Given the description of an element on the screen output the (x, y) to click on. 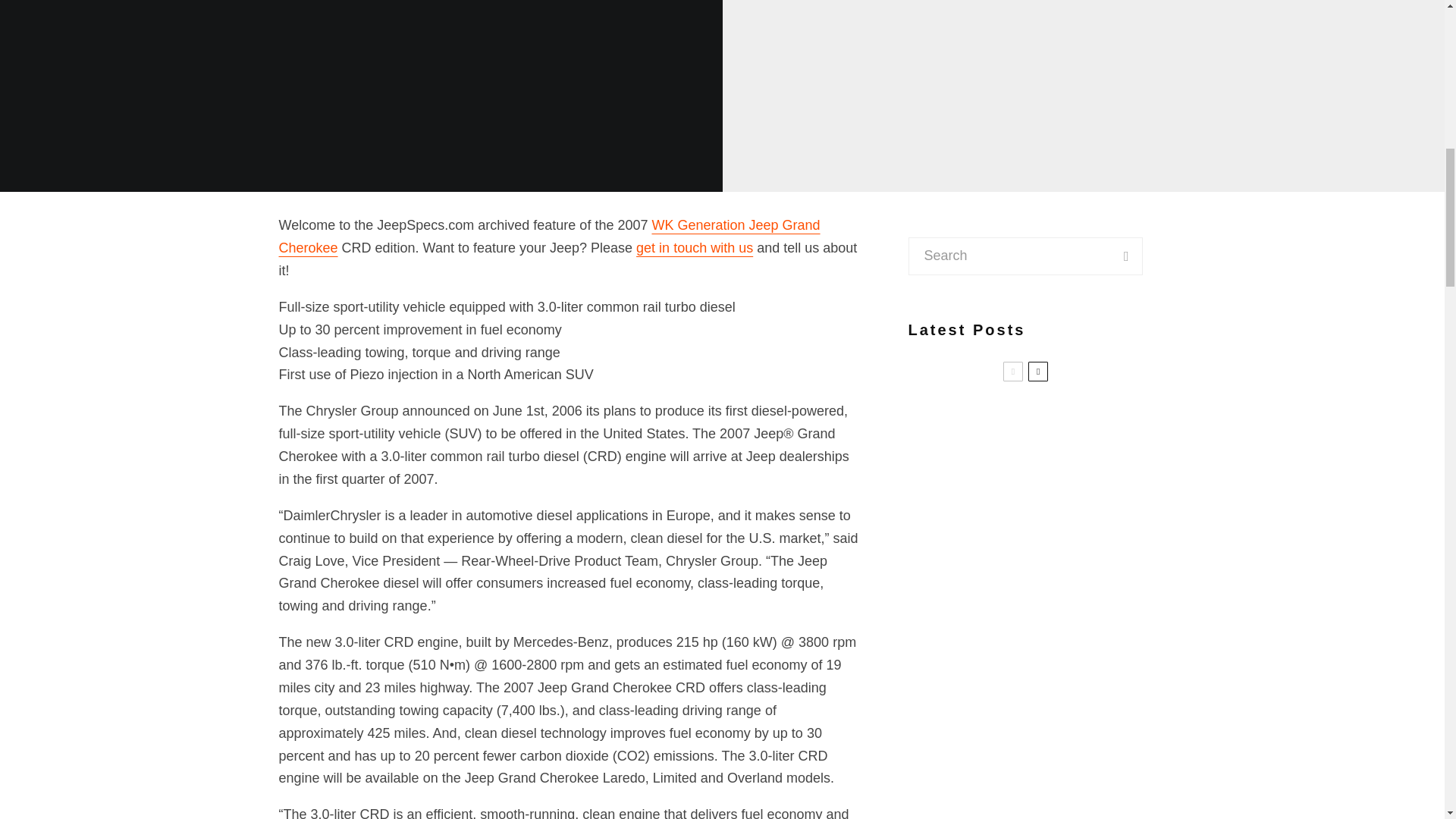
get in touch with us (694, 247)
WK Generation Jeep Grand Cherokee (550, 236)
